Given the description of an element on the screen output the (x, y) to click on. 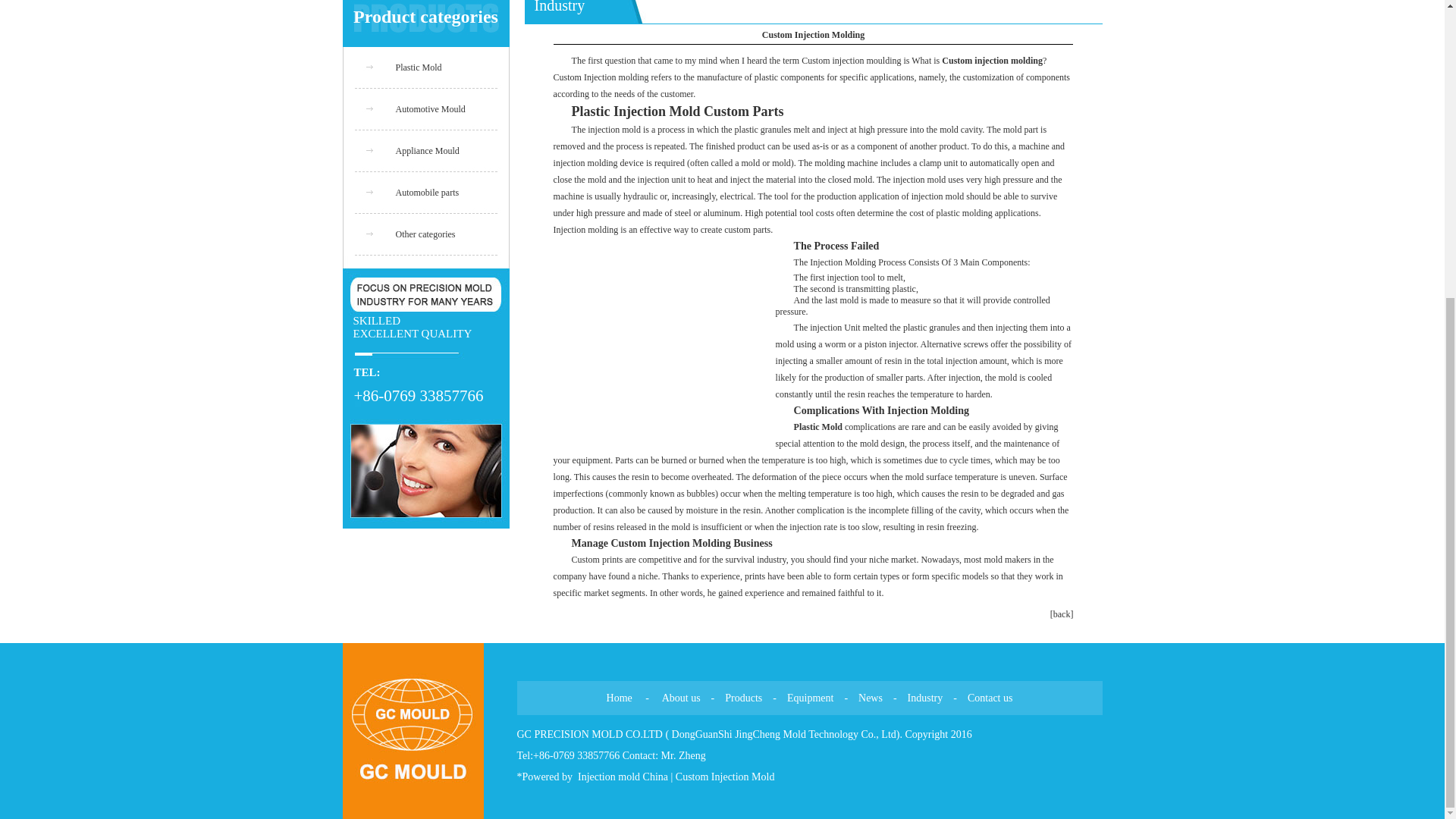
Contact us (990, 697)
Plastic Mold (419, 67)
Home (619, 697)
About us (681, 697)
Other categories (425, 234)
Automotive Mould (430, 109)
Custom injection molding (992, 60)
Products (743, 697)
News (870, 697)
Equipment (809, 697)
Industry (925, 697)
Custom Injection Mold (724, 776)
Appliance Mould (428, 150)
Injection mold China (623, 776)
Automobile parts (428, 192)
